Given the description of an element on the screen output the (x, y) to click on. 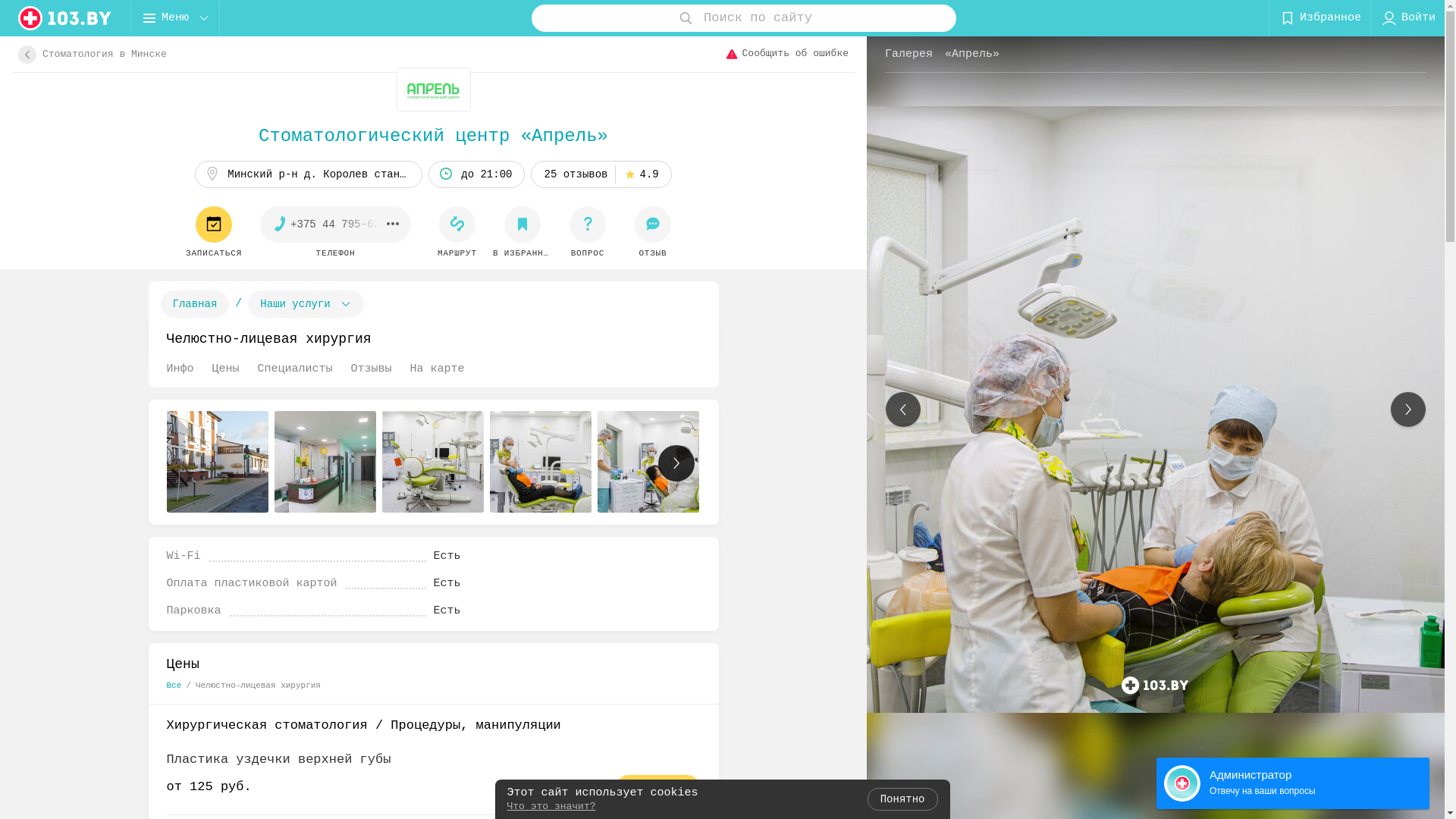
logo Element type: hover (65, 18)
